Given the description of an element on the screen output the (x, y) to click on. 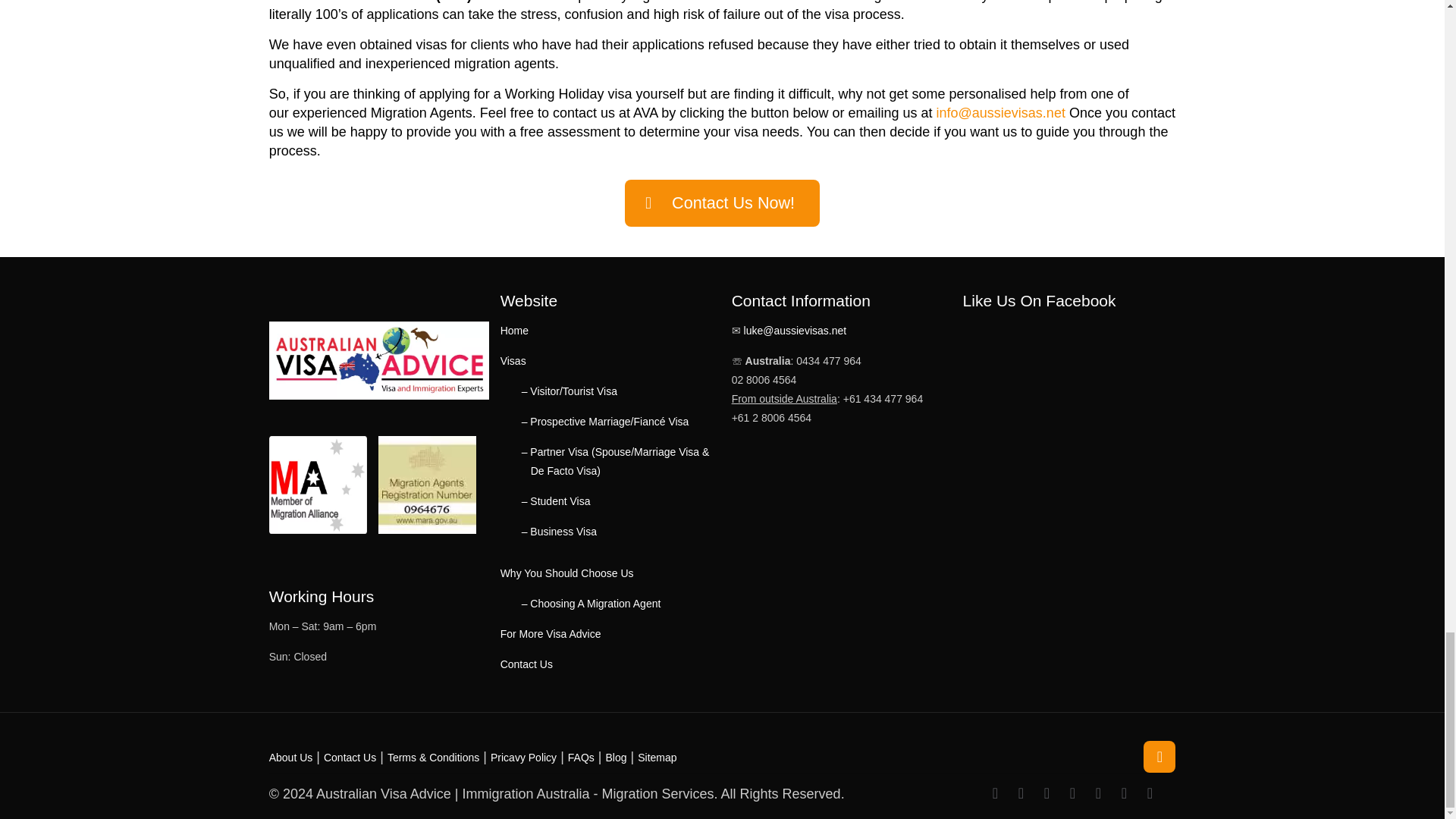
Twitter (1020, 793)
LinkedIn (1072, 793)
Facebook (995, 793)
Instagram (1123, 793)
Tumblr (1149, 793)
Contact Us Now! (721, 202)
Pinterest (1097, 793)
Home (514, 330)
YouTube (1046, 793)
Visas (512, 360)
